Given the description of an element on the screen output the (x, y) to click on. 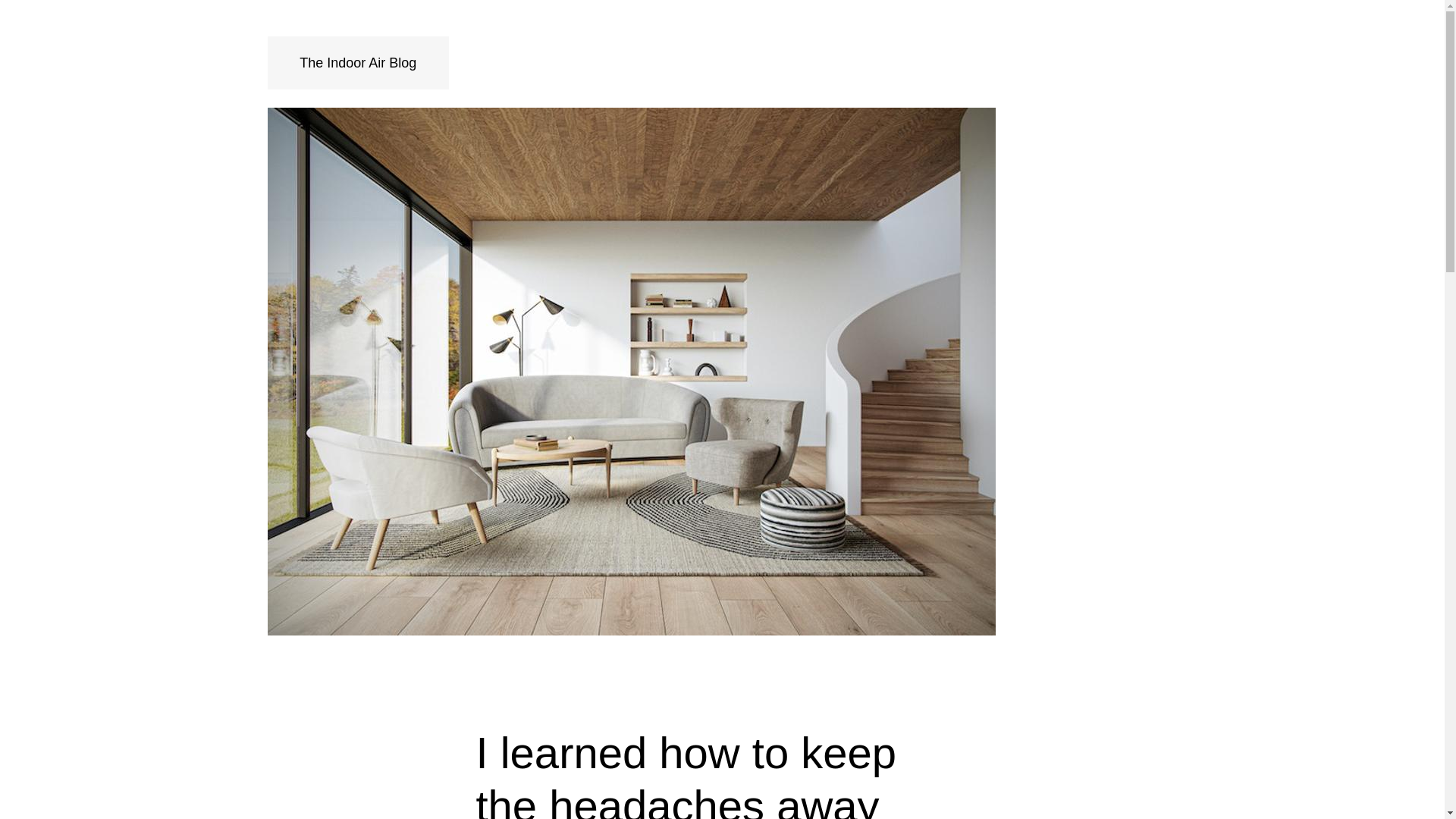
The Indoor Air Blog (357, 61)
